Given the description of an element on the screen output the (x, y) to click on. 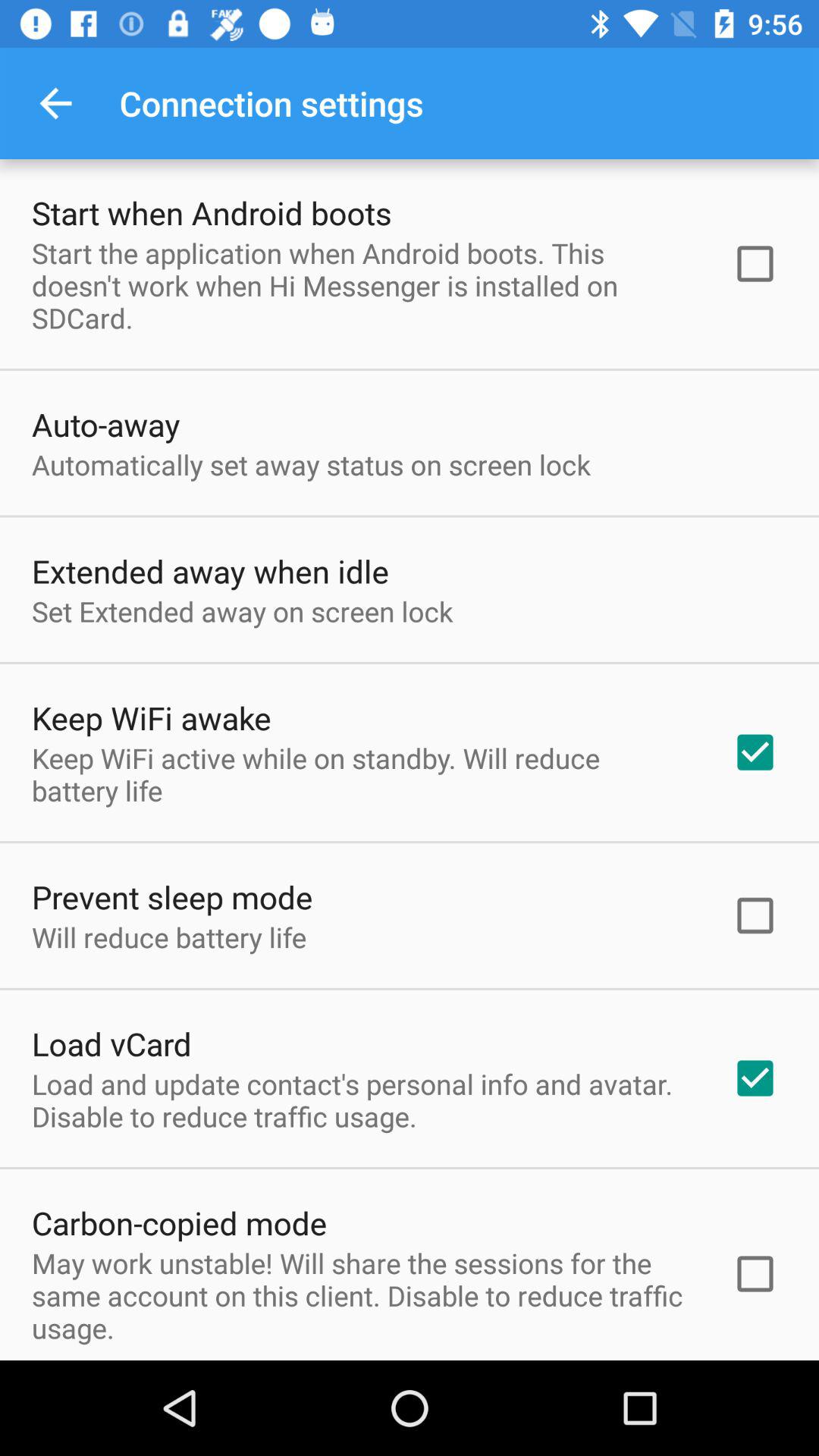
select start the application icon (361, 285)
